Given the description of an element on the screen output the (x, y) to click on. 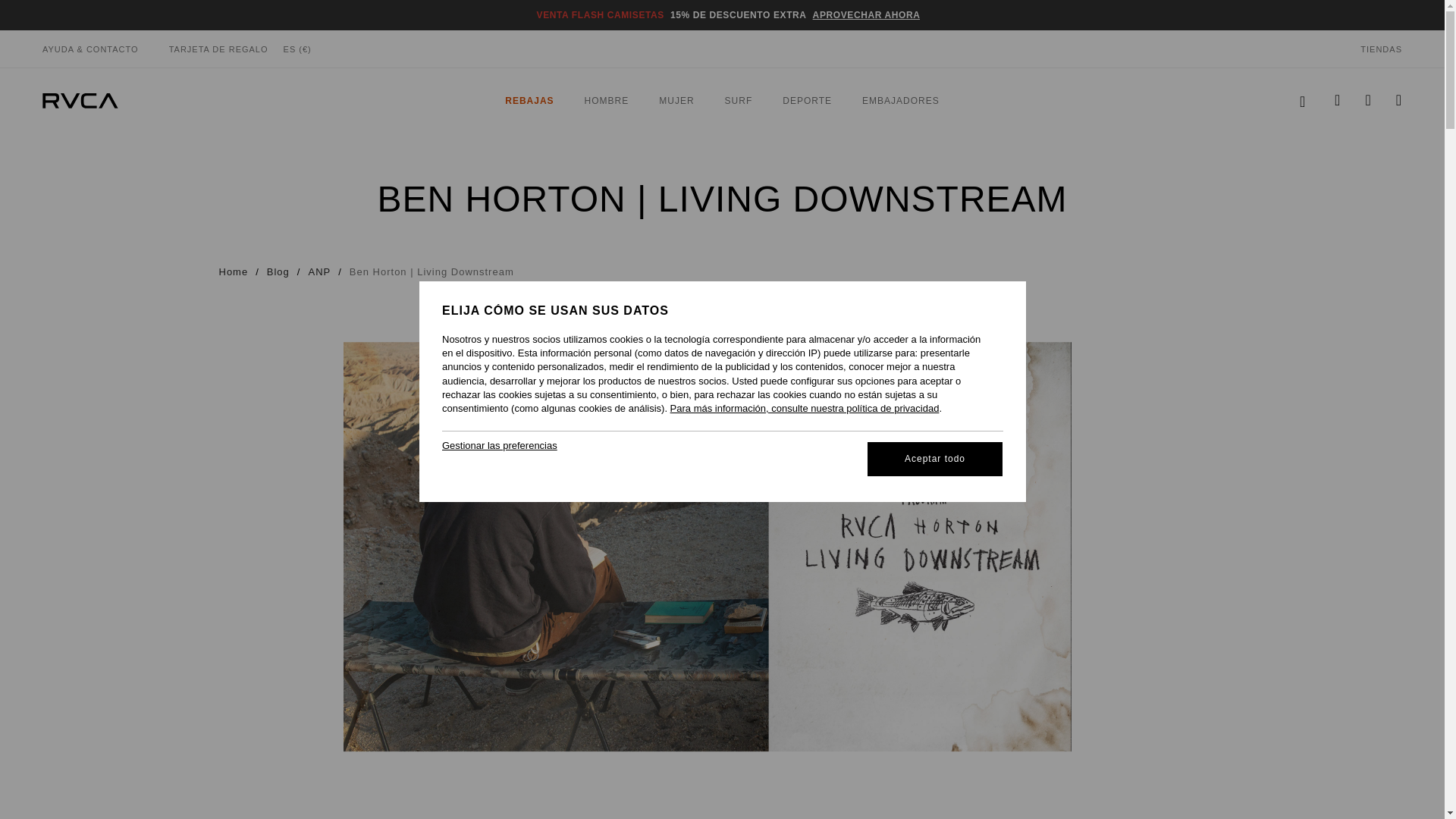
TARJETA DE REGALO (217, 48)
REBAJAS (721, 99)
Buscar (529, 100)
APROVECHAR AHORA (1302, 99)
RVCA (866, 15)
HOMBRE (79, 99)
